Given the description of an element on the screen output the (x, y) to click on. 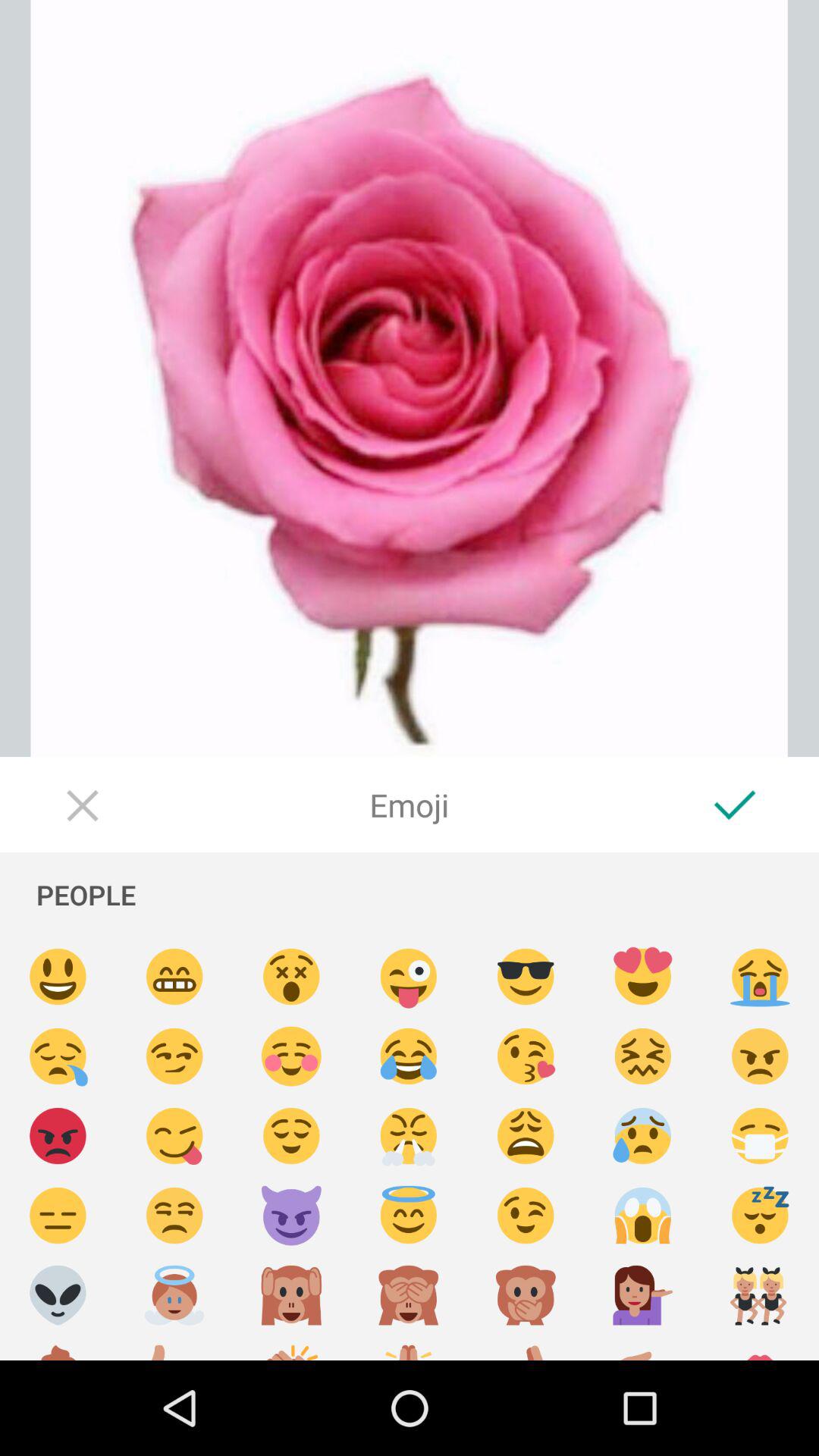
select emoji (760, 1056)
